Given the description of an element on the screen output the (x, y) to click on. 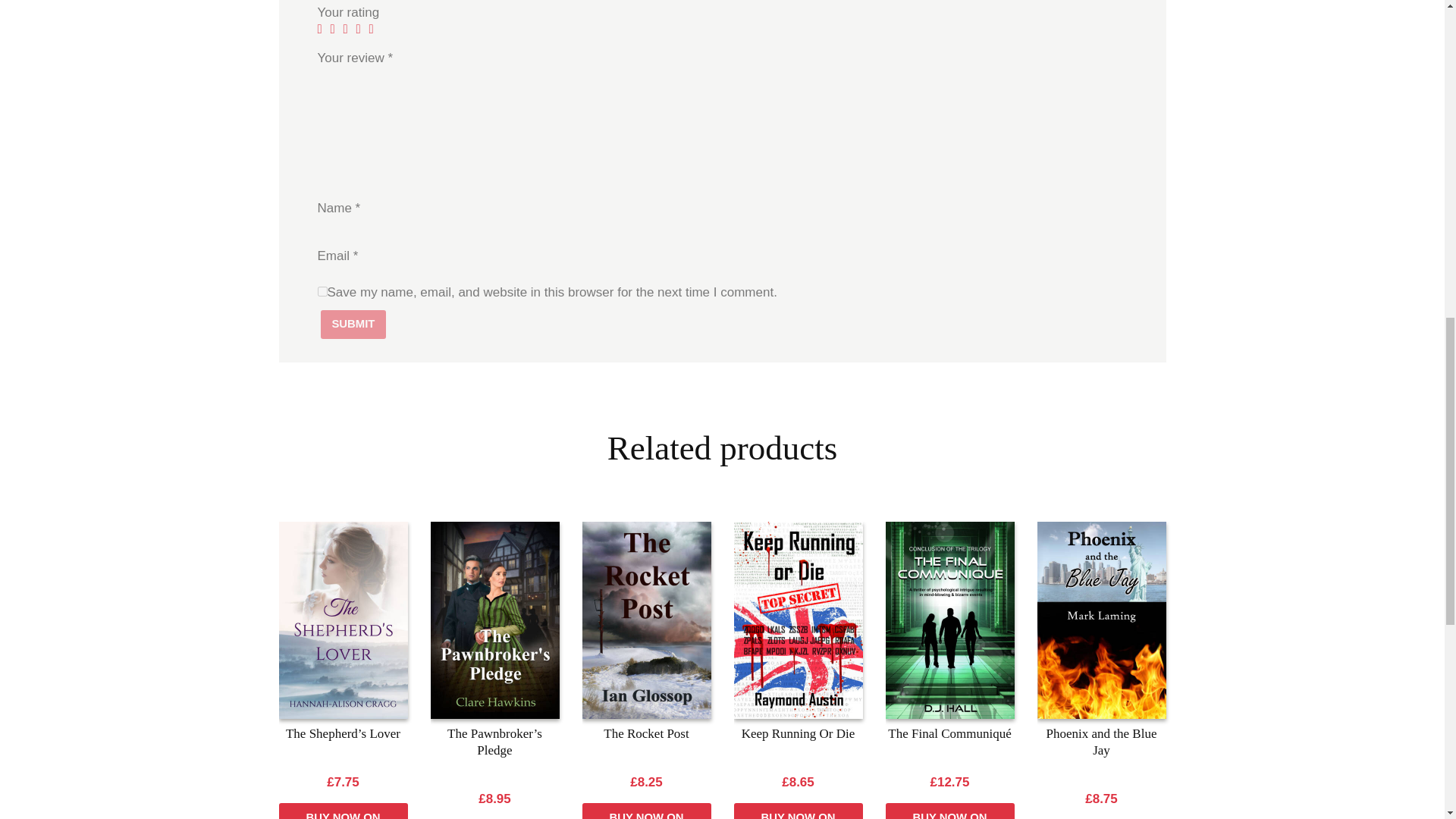
5 (374, 29)
2 (336, 29)
3 (348, 29)
4 (362, 29)
Submit (352, 324)
yes (321, 291)
1 (323, 29)
Submit (352, 324)
